Given the description of an element on the screen output the (x, y) to click on. 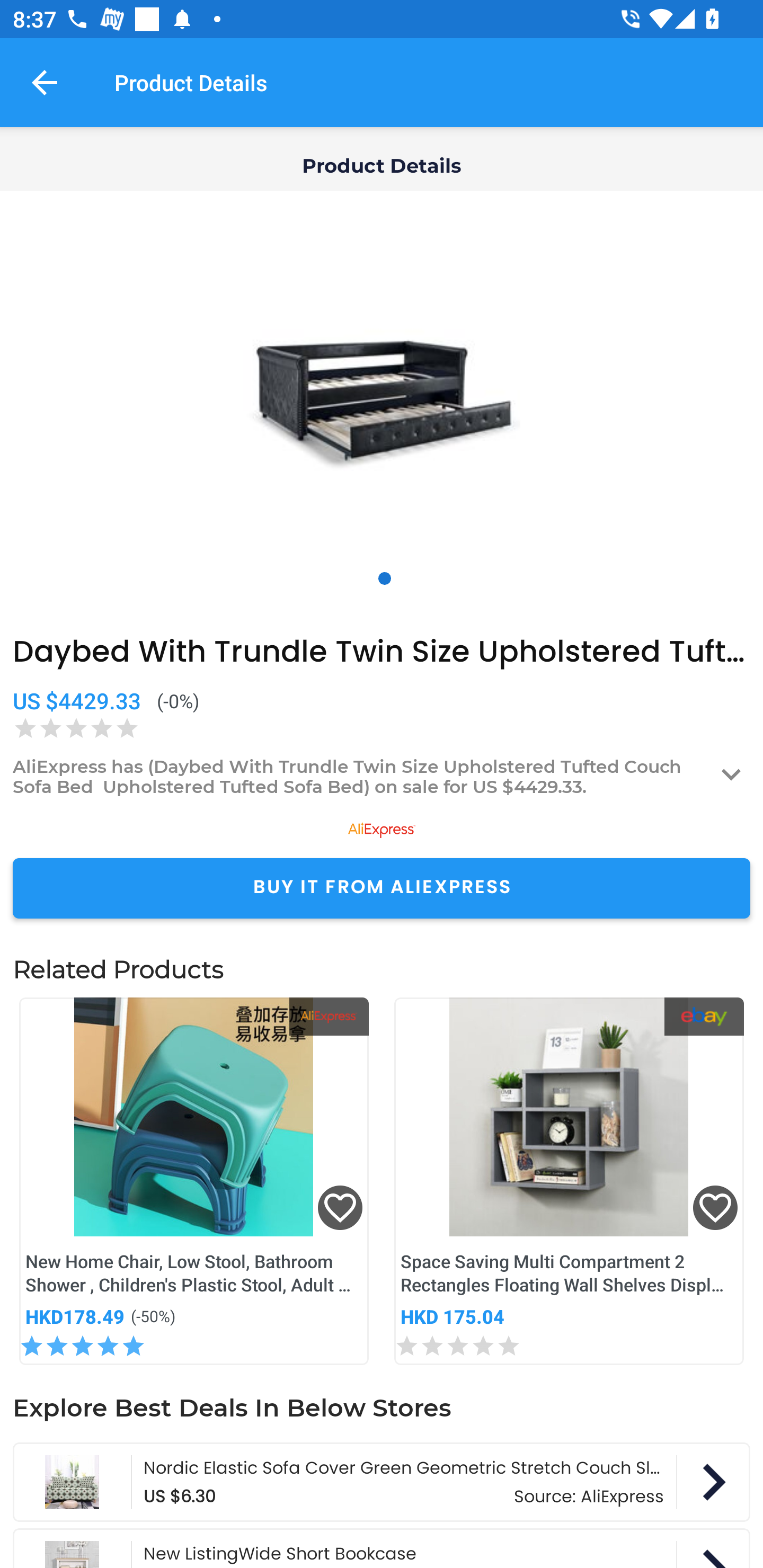
Navigate up (44, 82)
BUY IT FROM ALIEXPRESS (381, 888)
New ListingWide Short Bookcase (381, 1548)
